Given the description of an element on the screen output the (x, y) to click on. 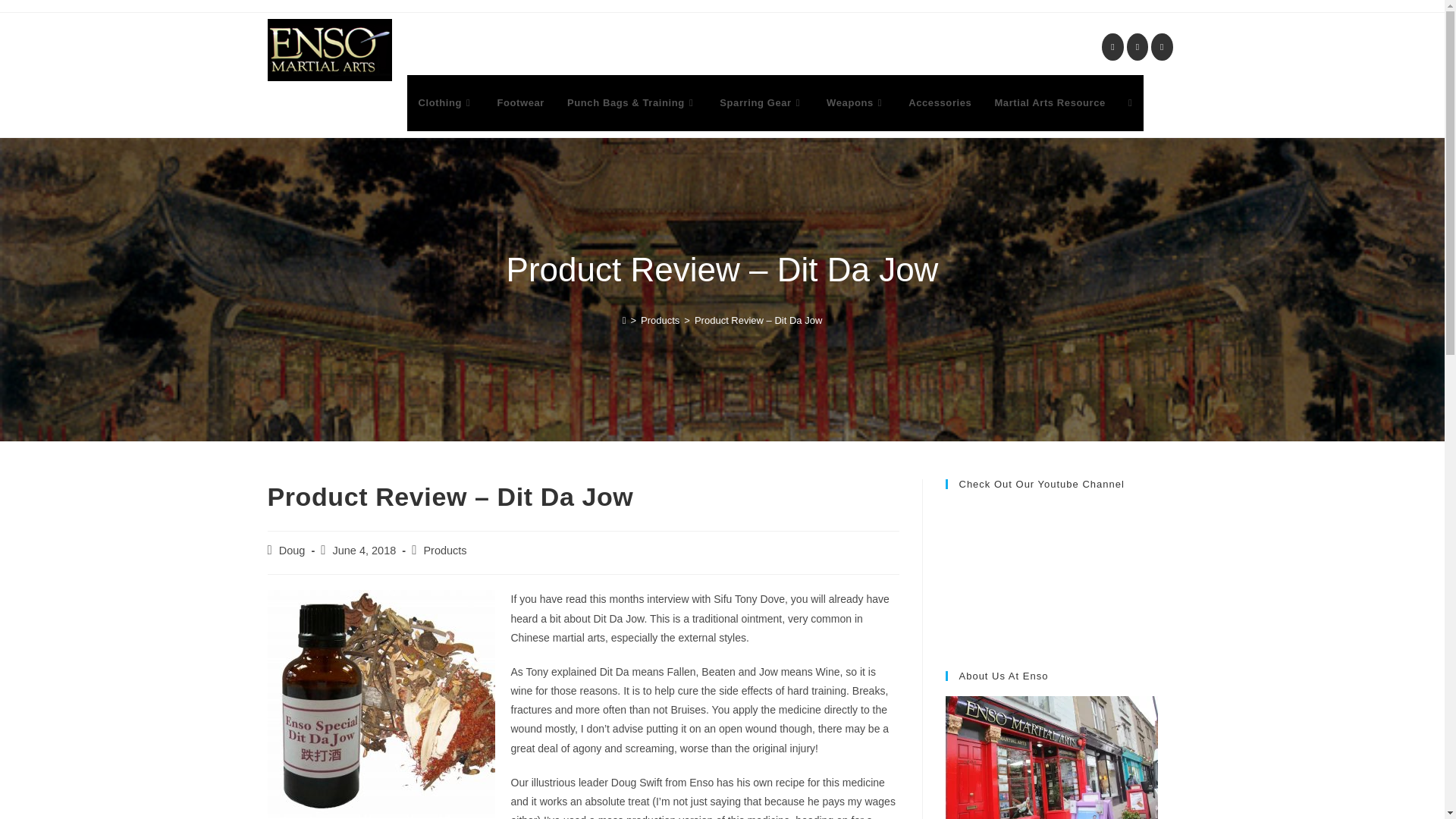
Weapons (855, 103)
Clothing (445, 103)
Footwear (520, 103)
Sparring Gear (761, 103)
Posts by Doug (292, 550)
